Given the description of an element on the screen output the (x, y) to click on. 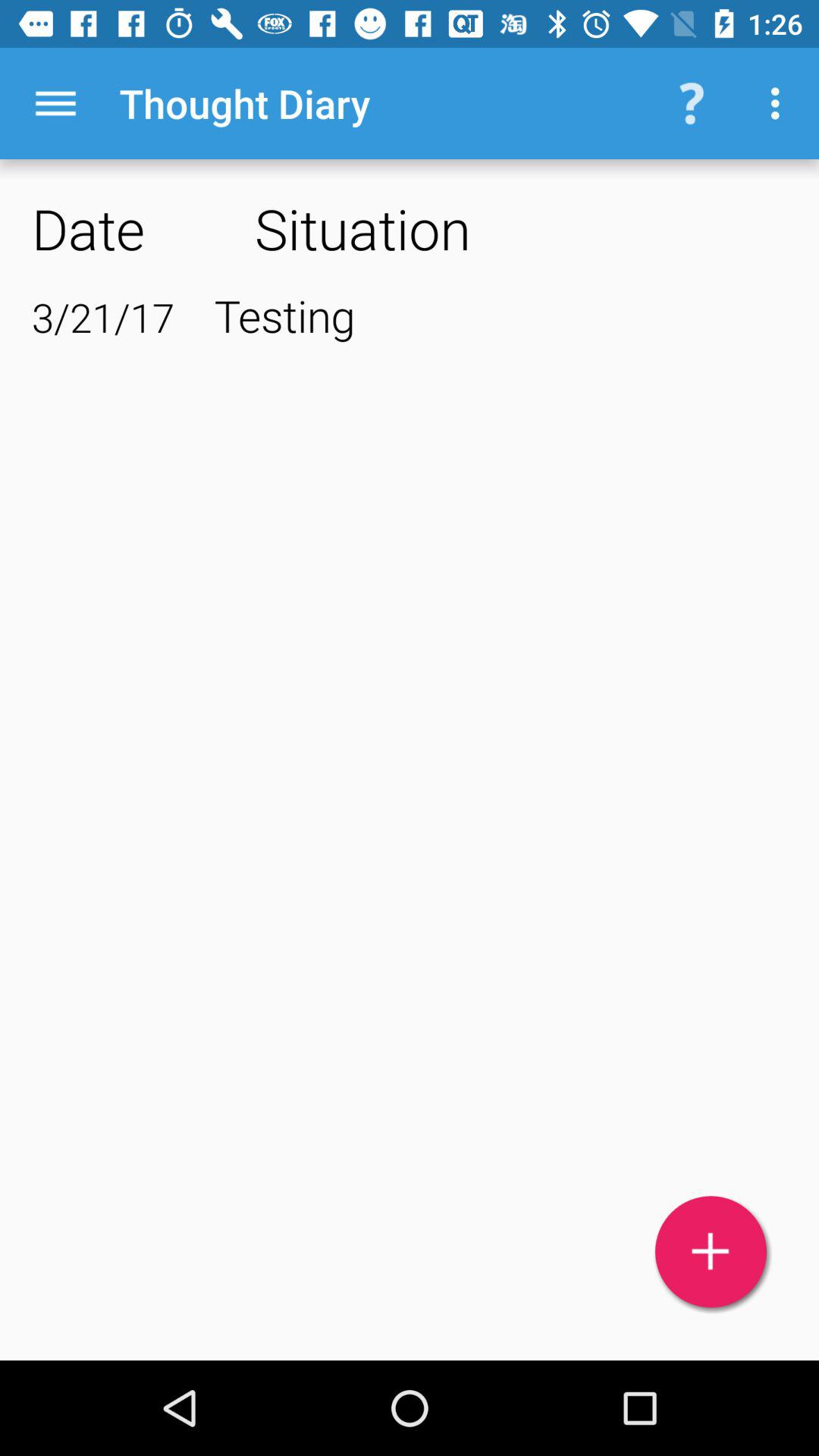
choose the item above date app (55, 103)
